Given the description of an element on the screen output the (x, y) to click on. 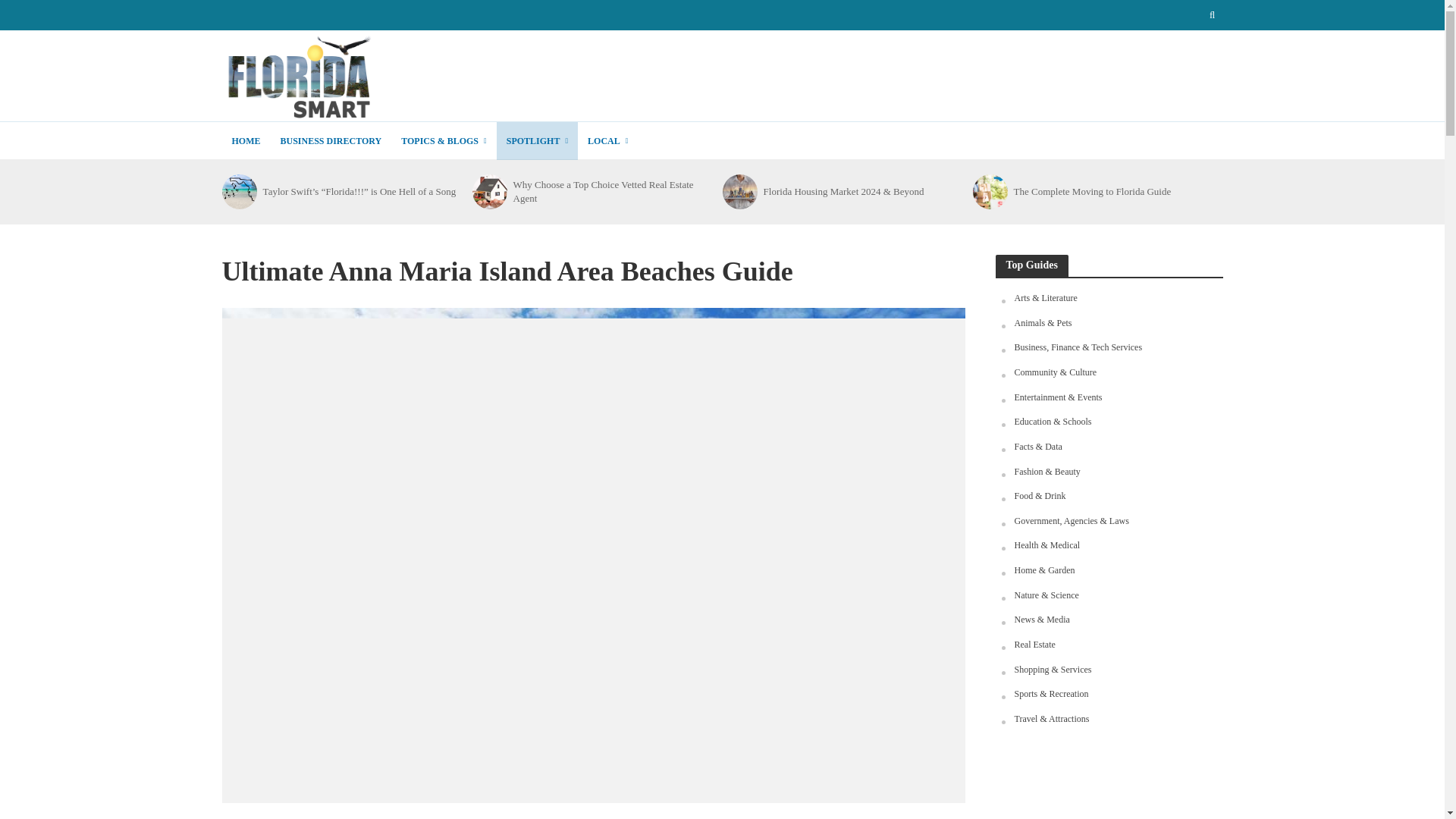
The Complete Moving to Florida Guide (989, 191)
BUSINESS DIRECTORY (330, 140)
HOME (245, 140)
LOCAL (607, 140)
SPOTLIGHT (537, 140)
Why Choose a Top Choice Vetted Real Estate Agent (488, 191)
